Given the description of an element on the screen output the (x, y) to click on. 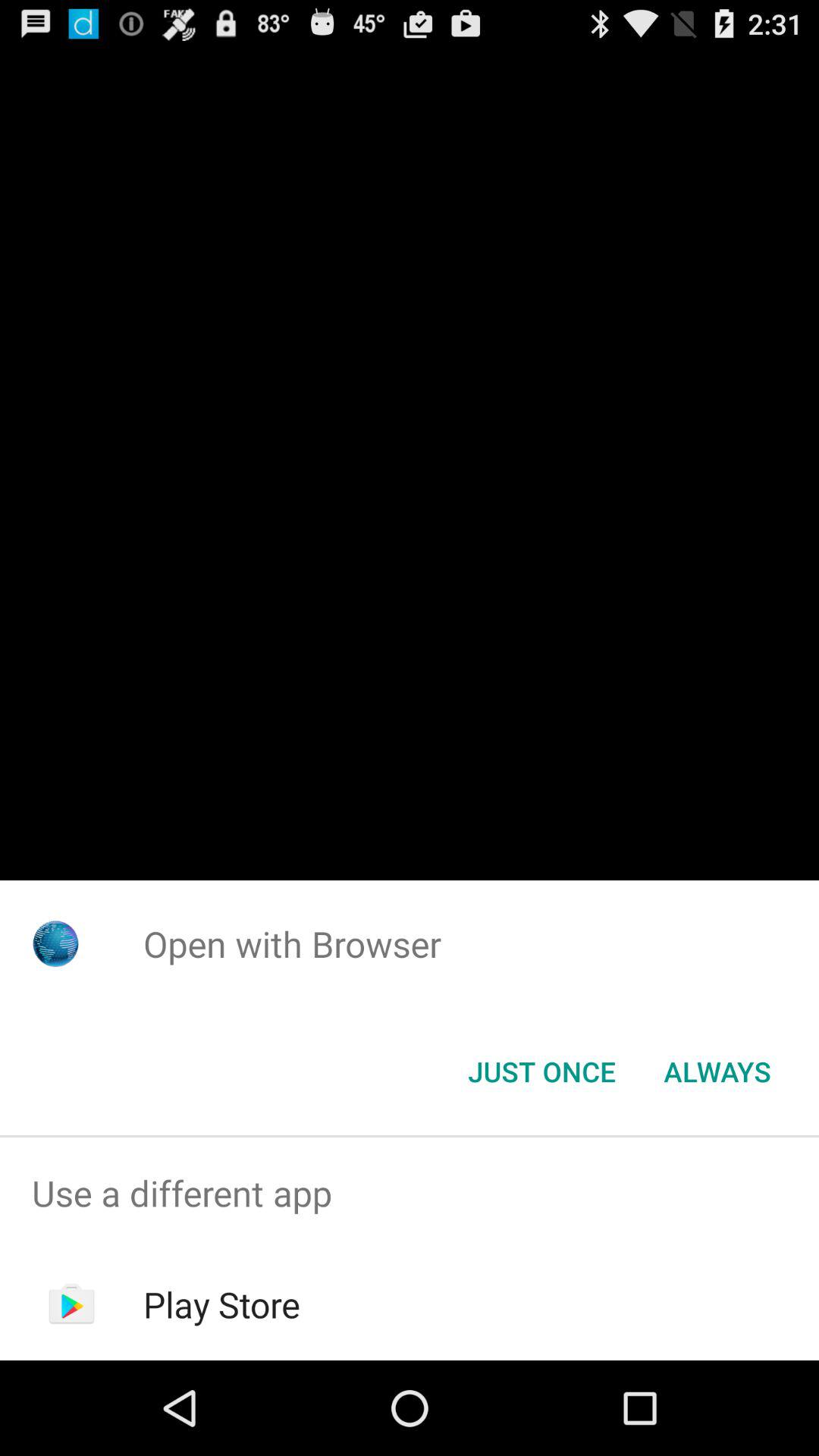
flip until just once (541, 1071)
